Given the description of an element on the screen output the (x, y) to click on. 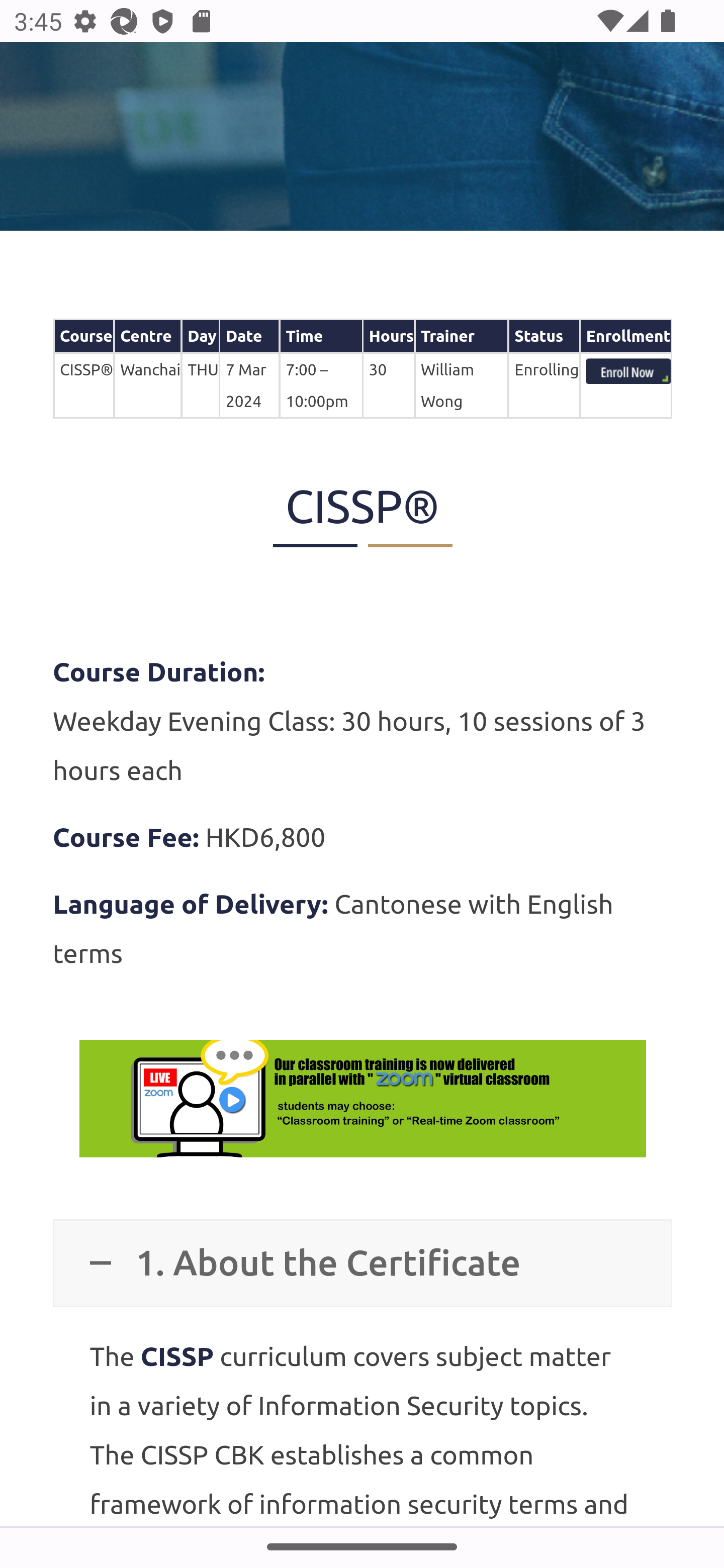
index (627, 373)
